Given the description of an element on the screen output the (x, y) to click on. 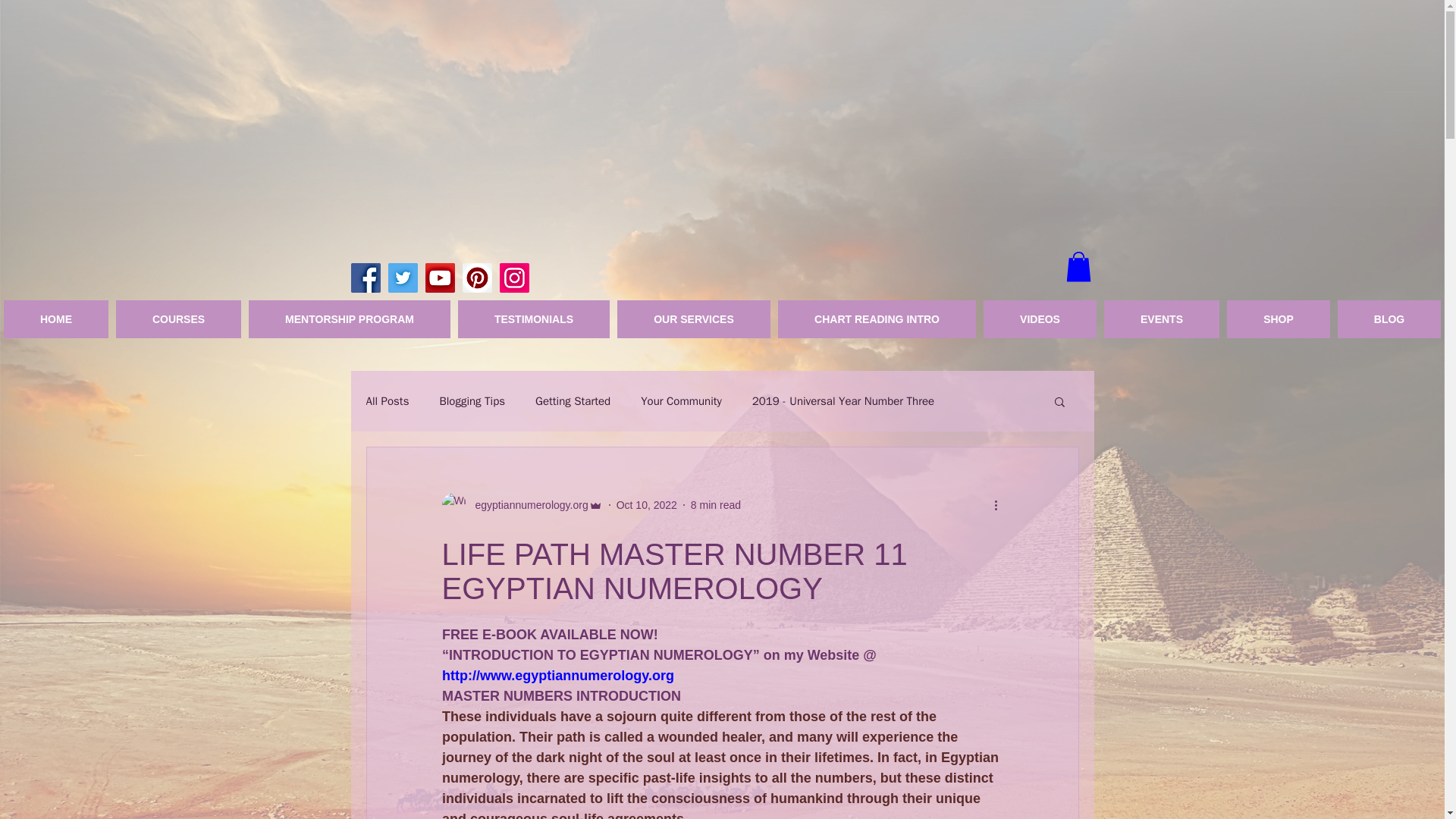
VIDEOS (1040, 319)
Blogging Tips (472, 400)
2019 - Universal Year Number Three (843, 400)
8 min read (715, 504)
EVENTS (1161, 319)
BLOG (1389, 319)
OUR SERVICES (693, 319)
SHOP (1278, 319)
All Posts (387, 400)
Getting Started (572, 400)
